Given the description of an element on the screen output the (x, y) to click on. 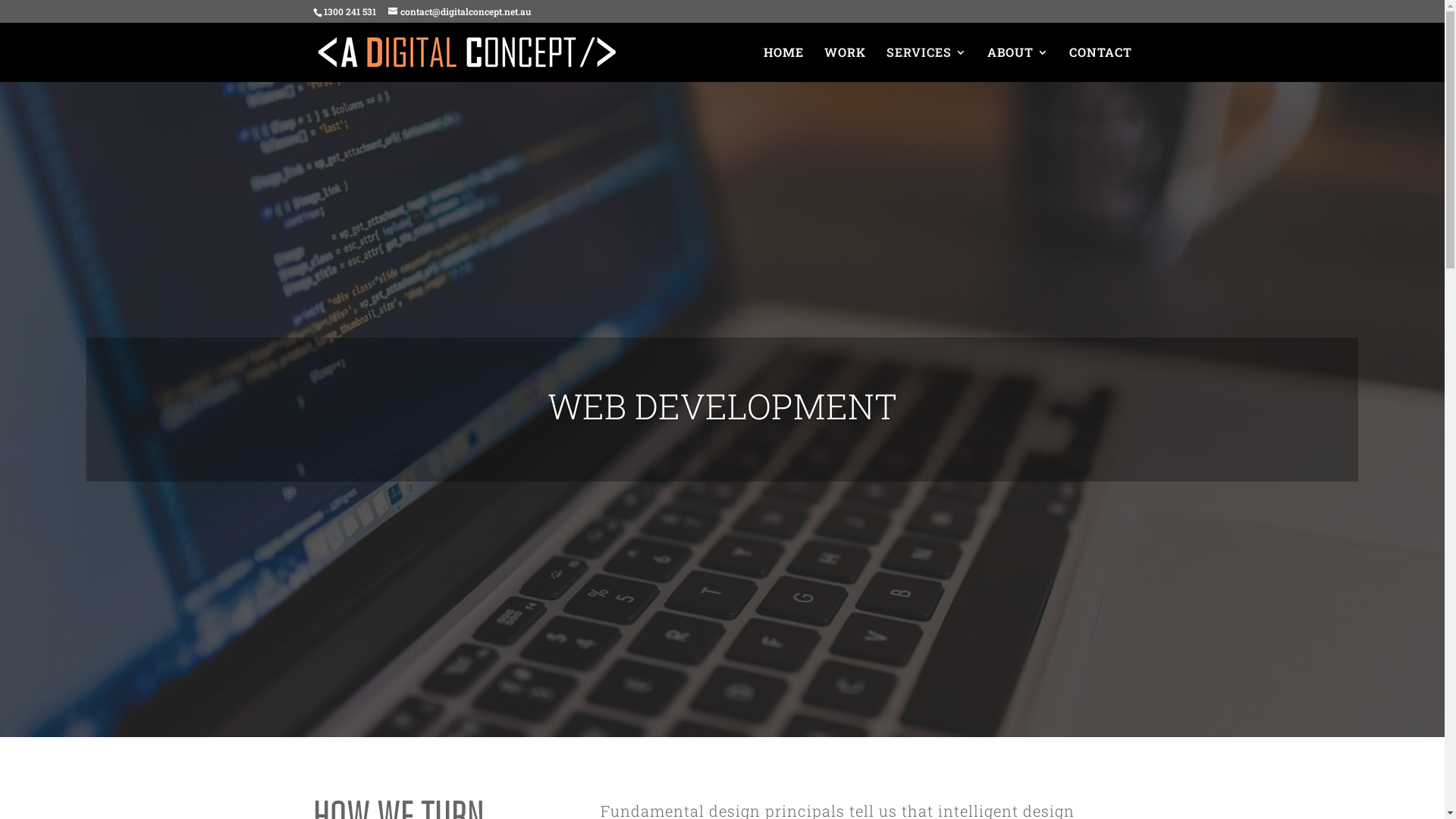
SERVICES Element type: text (925, 64)
WORK Element type: text (844, 64)
ABOUT Element type: text (1017, 64)
contact@digitalconcept.net.au Element type: text (459, 11)
HOME Element type: text (782, 64)
CONTACT Element type: text (1100, 64)
